Given the description of an element on the screen output the (x, y) to click on. 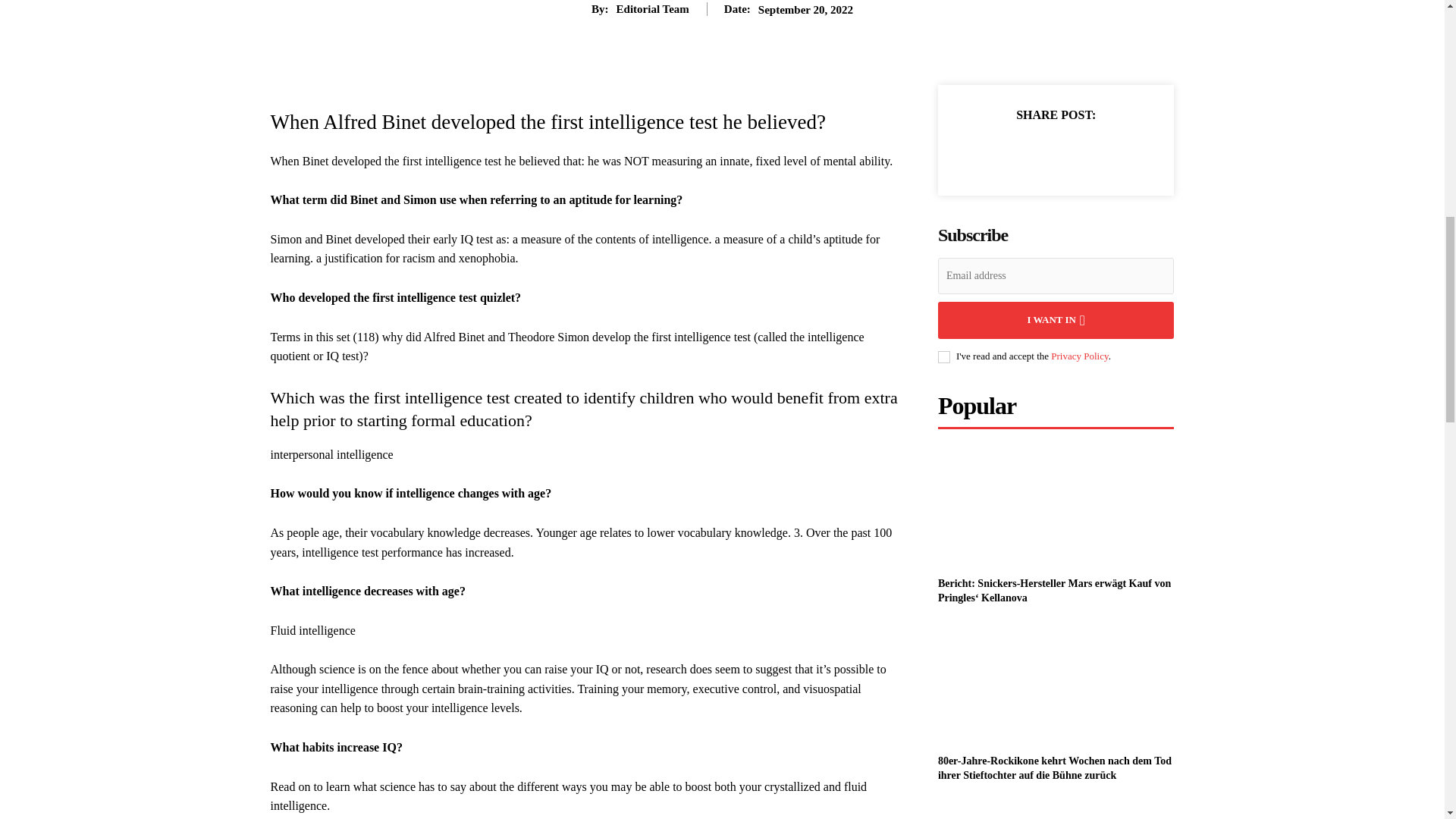
Privacy Policy (1079, 355)
I WANT IN (1055, 320)
Editorial Team (651, 8)
